Given the description of an element on the screen output the (x, y) to click on. 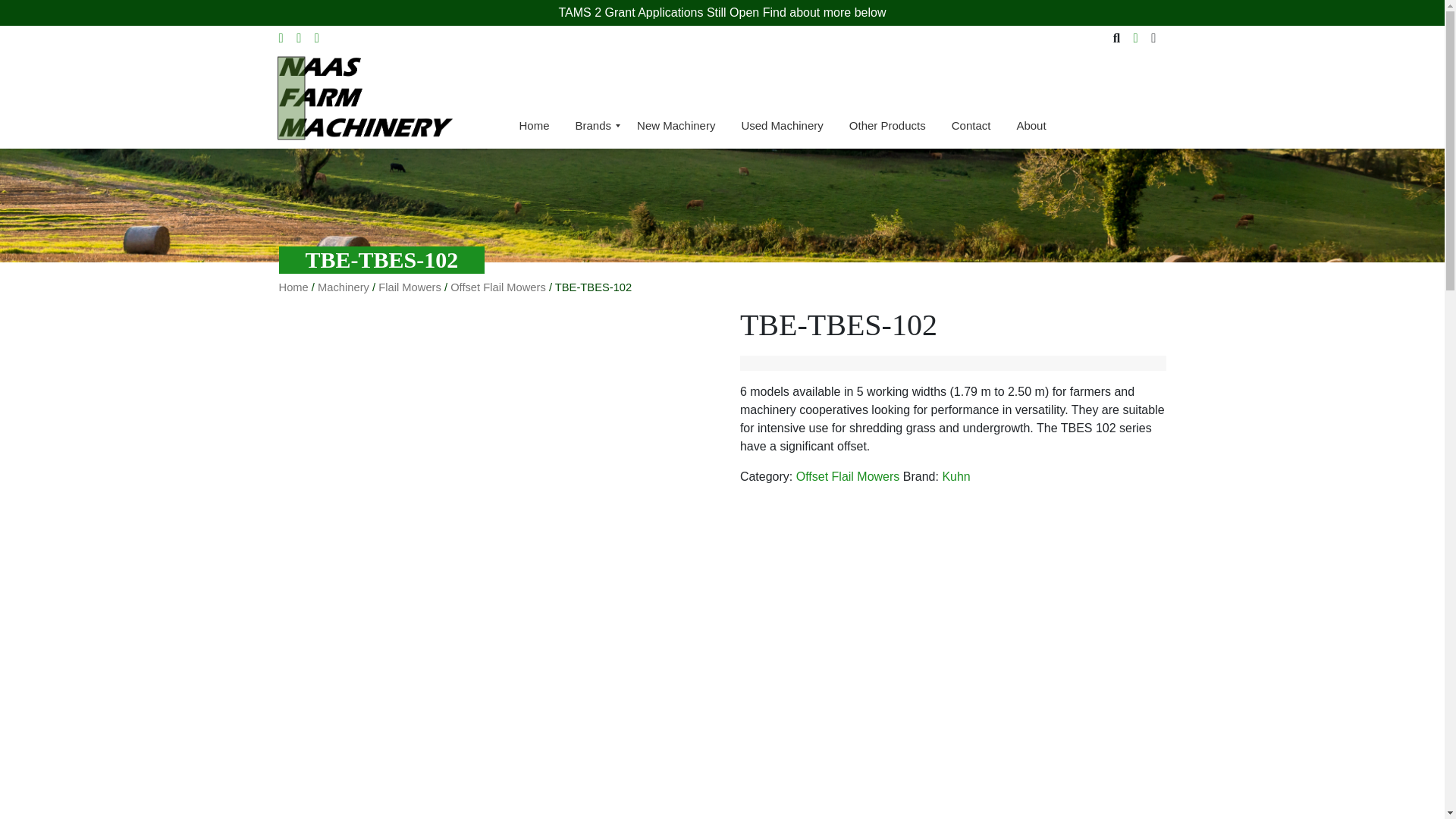
Home (293, 287)
Offset Flail Mowers (497, 287)
Used Machinery (781, 125)
Machinery (343, 287)
Contact (971, 125)
Home (534, 125)
Flail Mowers (409, 287)
Naas Farm Machinery (361, 97)
About (1030, 125)
New Machinery (676, 125)
Brands (593, 125)
Other Products (887, 125)
